Given the description of an element on the screen output the (x, y) to click on. 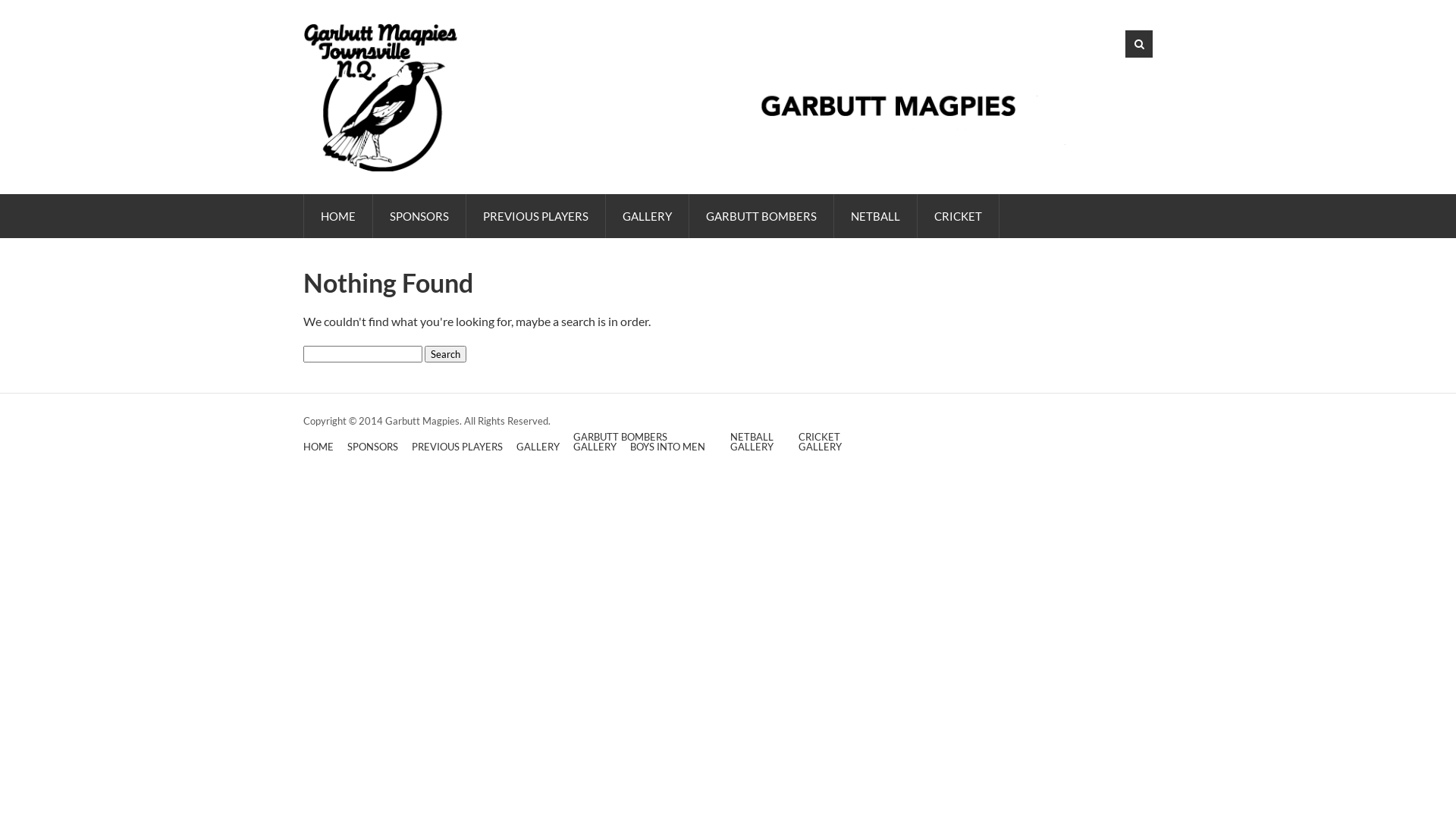
HOME Element type: text (318, 446)
GALLERY Element type: text (646, 216)
CRICKET Element type: text (957, 216)
GALLERY Element type: text (819, 446)
SPONSORS Element type: text (372, 446)
GARBUTT BOMBERS Element type: text (620, 436)
GALLERY Element type: text (537, 446)
PREVIOUS PLAYERS Element type: text (535, 216)
SPONSORS Element type: text (419, 216)
GALLERY Element type: text (751, 446)
GALLERY Element type: text (594, 446)
GARBUTT BOMBERS Element type: text (761, 216)
NETBALL Element type: text (875, 216)
NETBALL Element type: text (751, 436)
Search Element type: text (445, 353)
PREVIOUS PLAYERS Element type: text (456, 446)
CRICKET Element type: text (819, 436)
HOME Element type: text (338, 216)
BOYS INTO MEN Element type: text (667, 446)
